Given the description of an element on the screen output the (x, y) to click on. 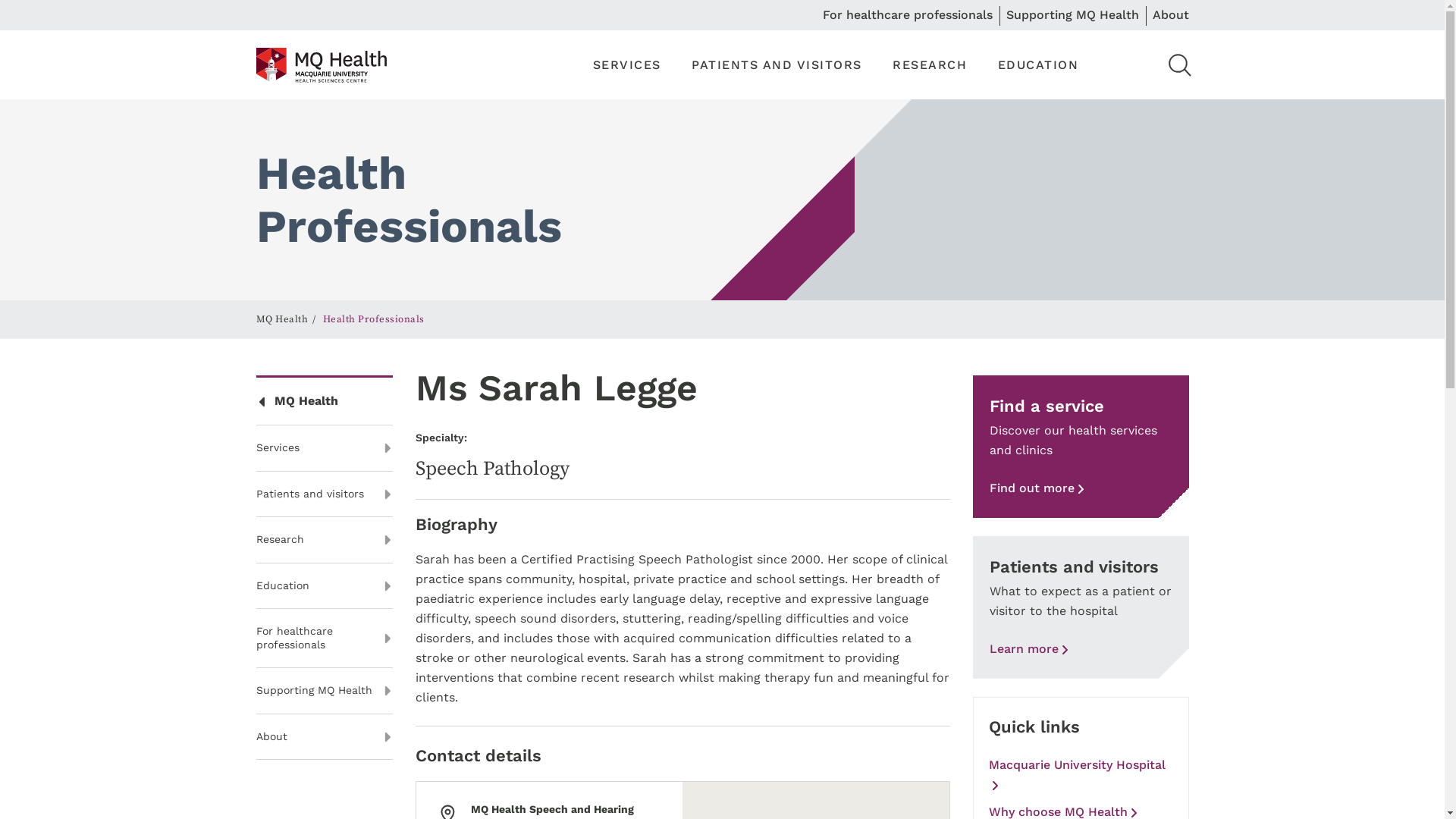
For healthcare professionals Element type: text (324, 638)
About Element type: text (324, 737)
PATIENTS AND VISITORS Element type: text (776, 64)
For healthcare professionals Element type: text (906, 15)
Education Element type: text (324, 586)
Research Element type: text (324, 540)
SERVICES Element type: text (627, 64)
About Element type: text (1170, 15)
Supporting MQ Health Element type: text (324, 691)
Supporting MQ Health Element type: text (1071, 15)
MQ Health Element type: text (324, 401)
Patients and visitors Element type: text (324, 494)
MQ Health Element type: text (321, 64)
MQ Health Element type: text (282, 319)
EDUCATION Element type: text (1038, 64)
RESEARCH Element type: text (929, 64)
Macquarie University Hospital Element type: text (1080, 774)
Services Element type: text (324, 448)
